Given the description of an element on the screen output the (x, y) to click on. 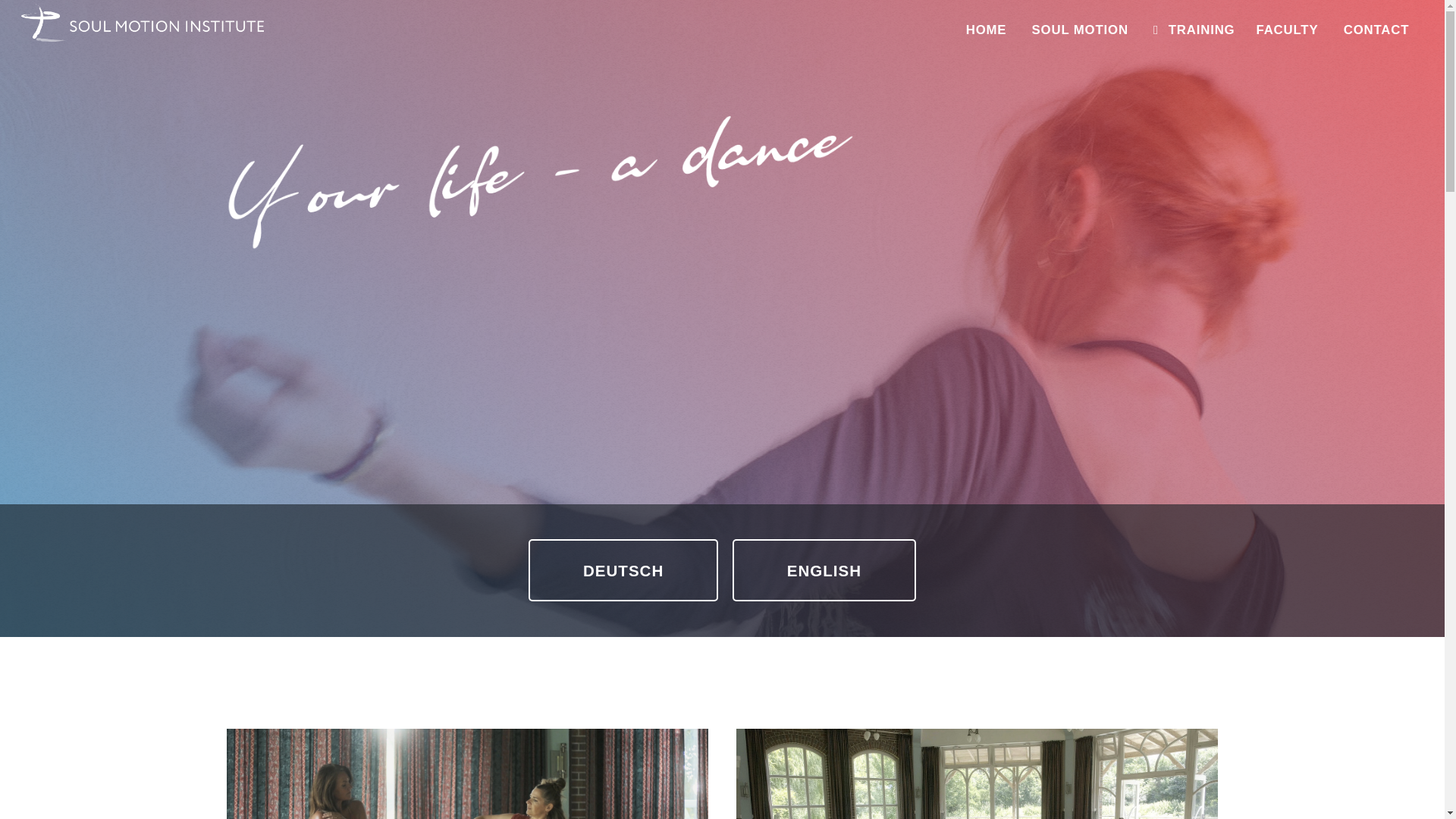
FACULTY (1286, 29)
DEUTSCH (622, 569)
TRAINING (1193, 29)
HOME (986, 29)
CONTACT (1376, 29)
SOUL MOTION (1080, 29)
ENGLISH (823, 569)
